Given the description of an element on the screen output the (x, y) to click on. 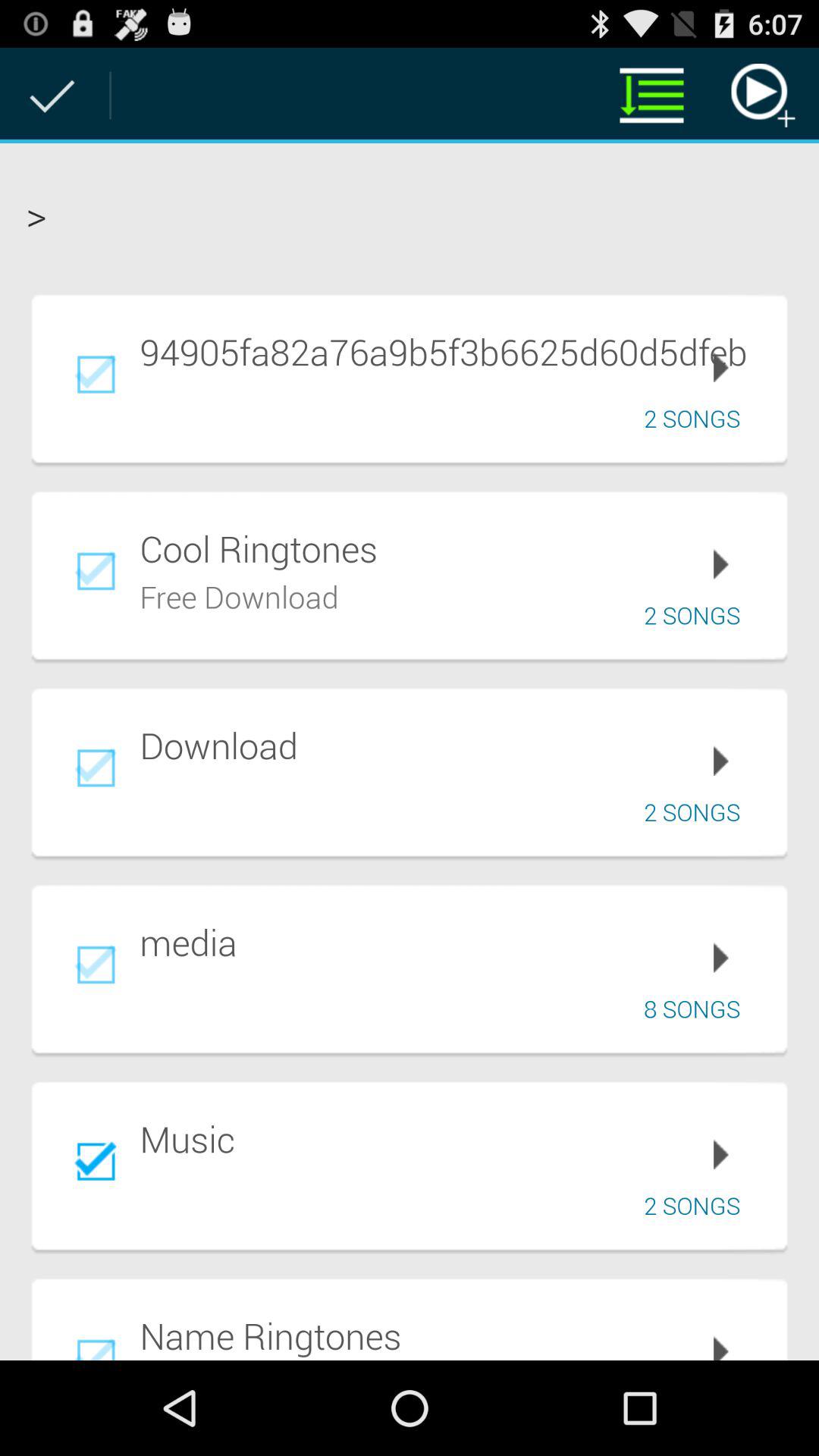
open the app above > icon (651, 95)
